Given the description of an element on the screen output the (x, y) to click on. 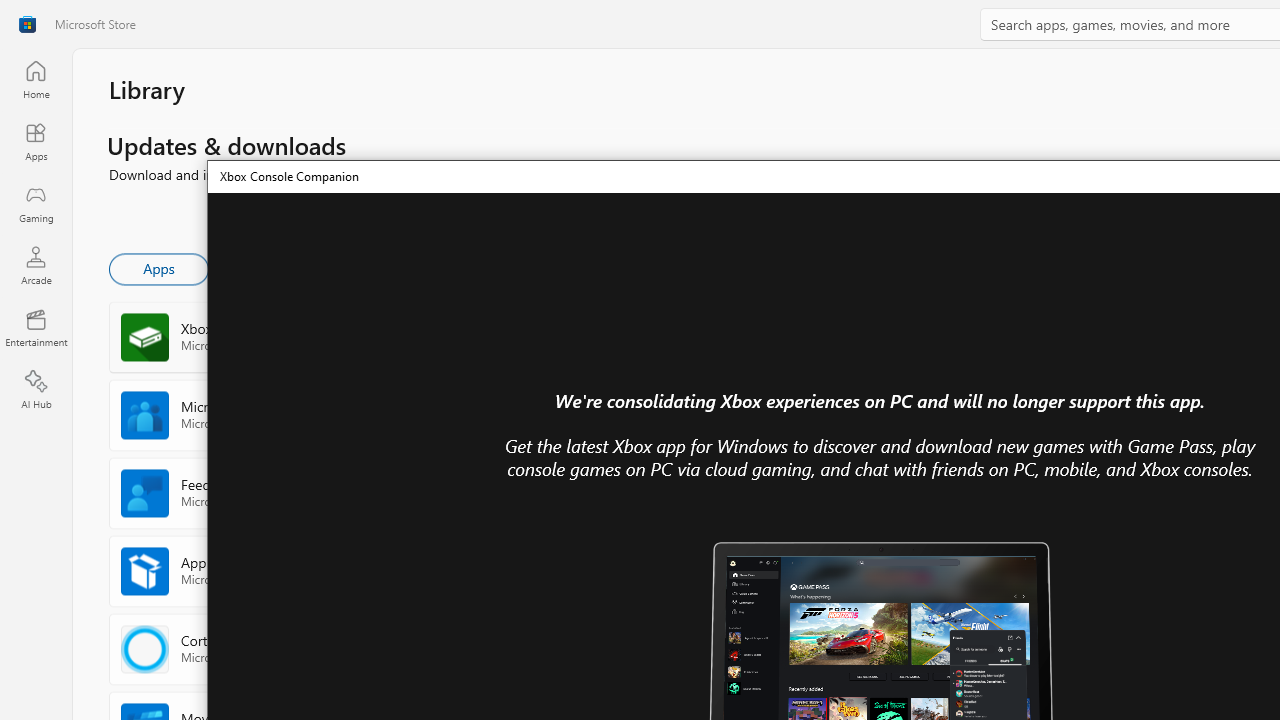
Home (35, 79)
Arcade (35, 265)
Apps (35, 141)
Entertainment (35, 327)
AI Hub (35, 390)
Gaming (35, 203)
Class: Image (27, 24)
